Given the description of an element on the screen output the (x, y) to click on. 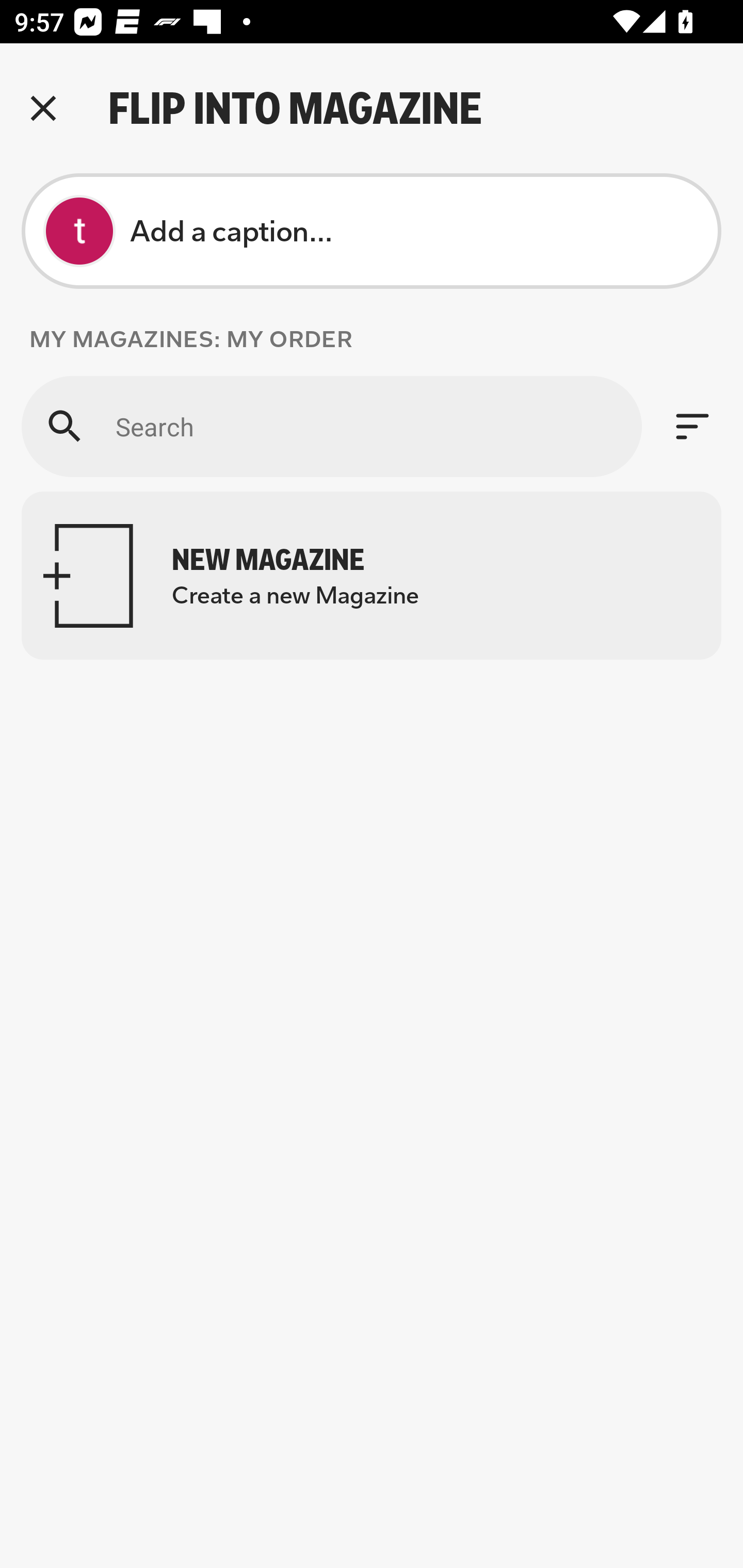
test appium Add a caption… (371, 231)
Search (331, 426)
NEW MAGAZINE Create a new Magazine (371, 575)
